Given the description of an element on the screen output the (x, y) to click on. 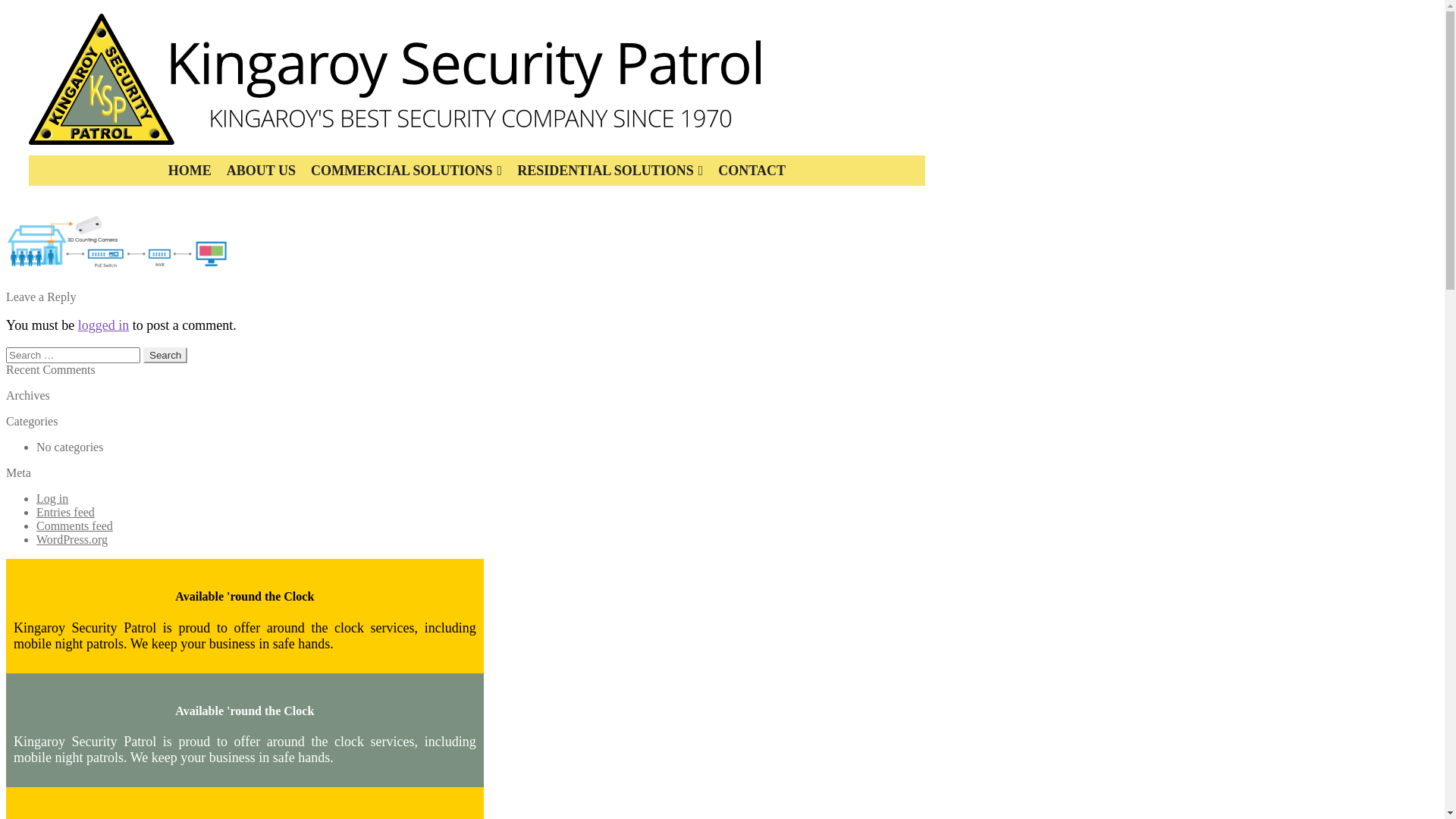
Entries feed Element type: text (65, 511)
CONTACT Element type: text (751, 170)
RESIDENTIAL SOLUTIONS Element type: text (609, 170)
HOME Element type: text (189, 170)
Comments feed Element type: text (74, 525)
Log in Element type: text (52, 498)
ABOUT US Element type: text (261, 170)
logged in Element type: text (103, 324)
WordPress.org Element type: text (71, 539)
COMMERCIAL SOLUTIONS Element type: text (406, 170)
Search Element type: text (165, 355)
